Given the description of an element on the screen output the (x, y) to click on. 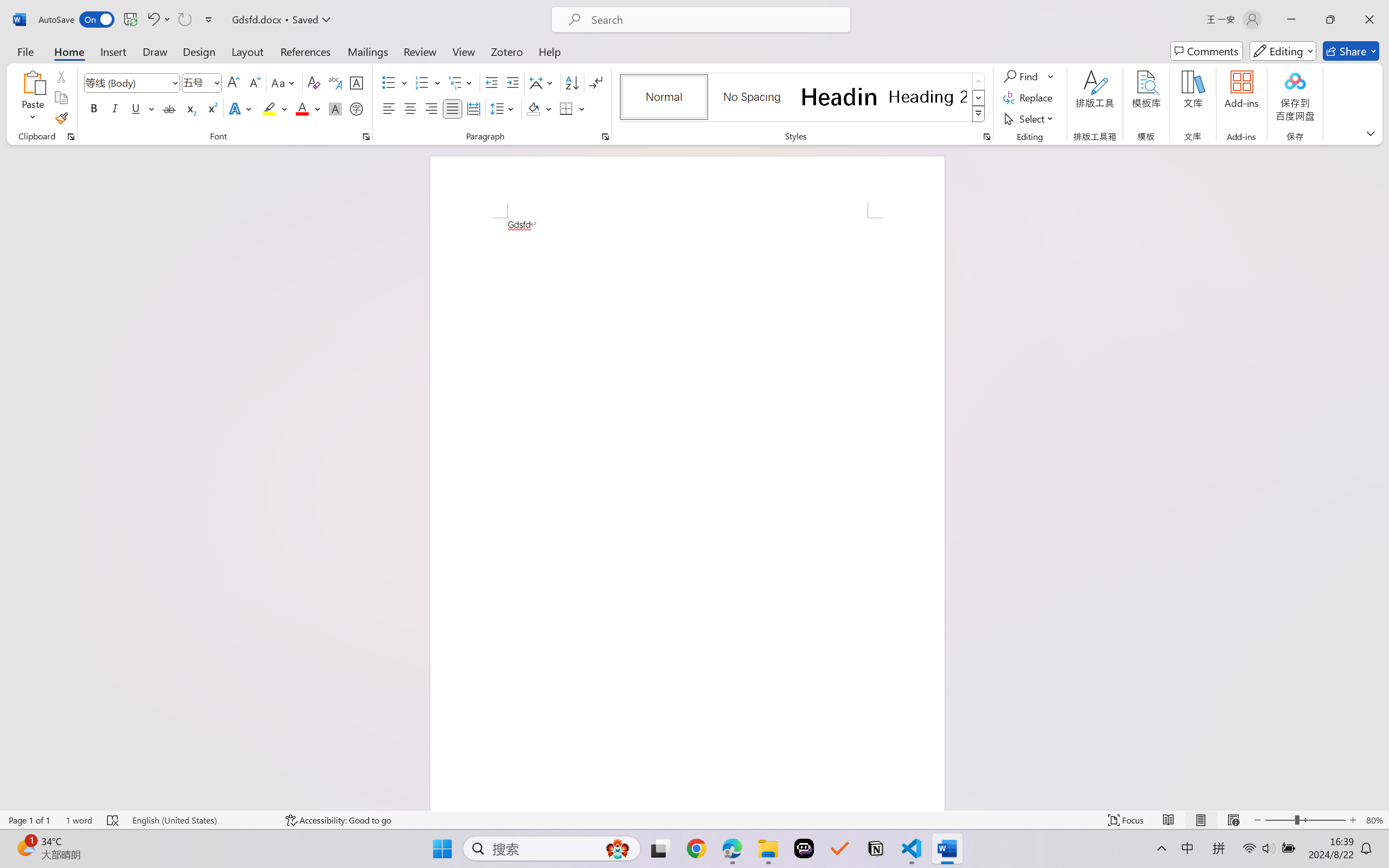
Page 1 content (686, 513)
